Given the description of an element on the screen output the (x, y) to click on. 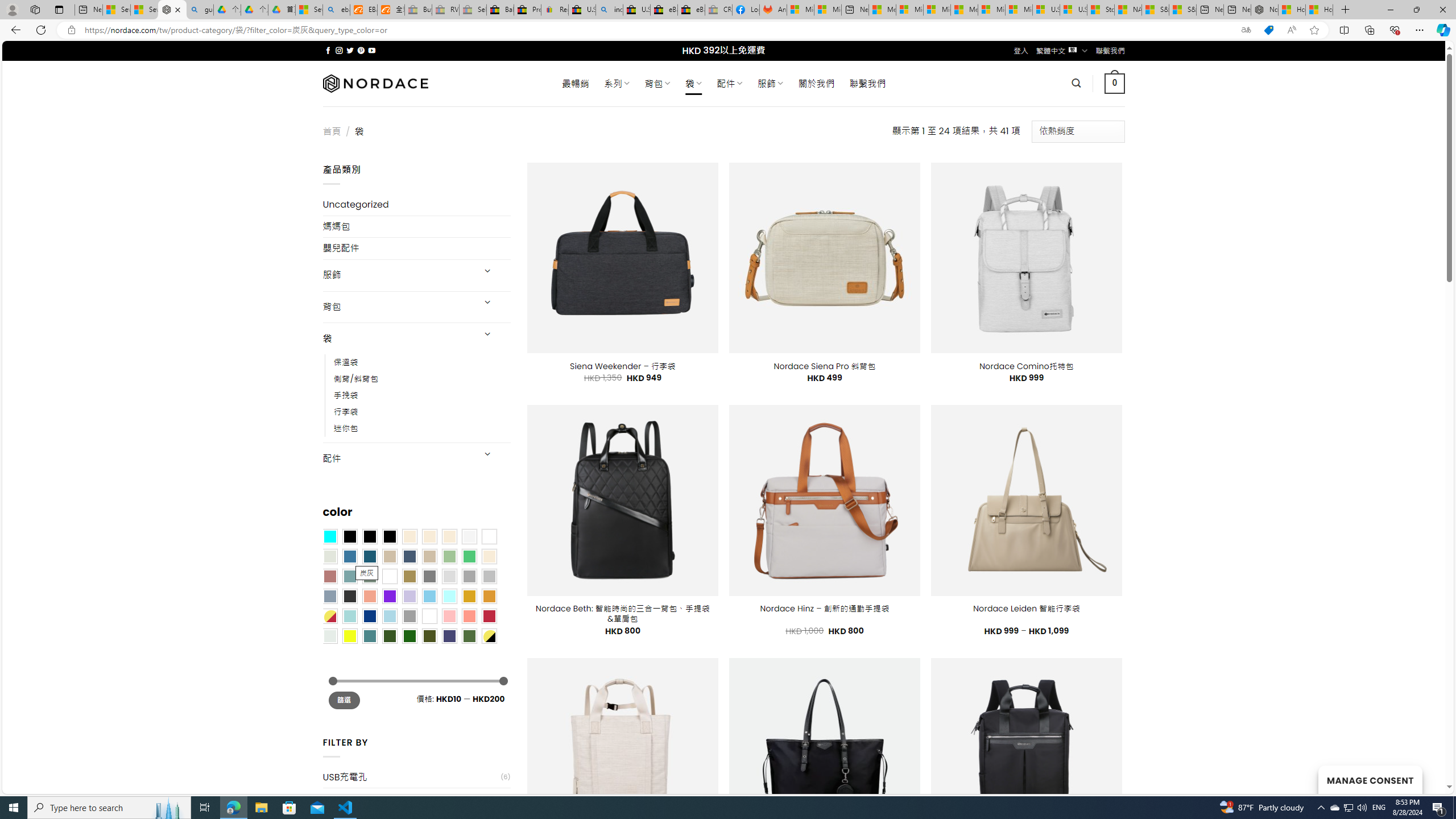
Uncategorized (416, 204)
